Given the description of an element on the screen output the (x, y) to click on. 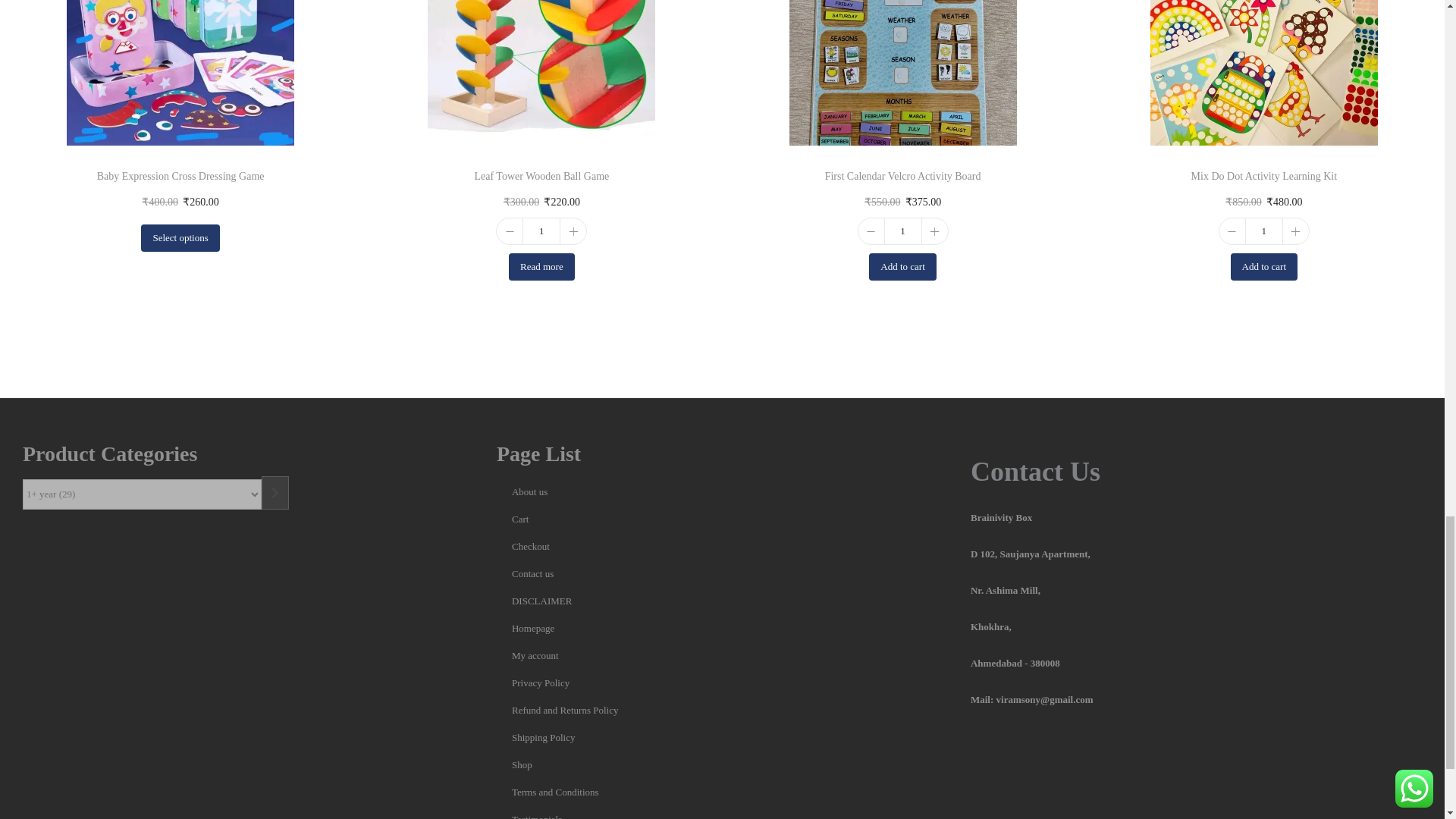
1 (903, 231)
1 (1264, 231)
1 (541, 231)
